Given the description of an element on the screen output the (x, y) to click on. 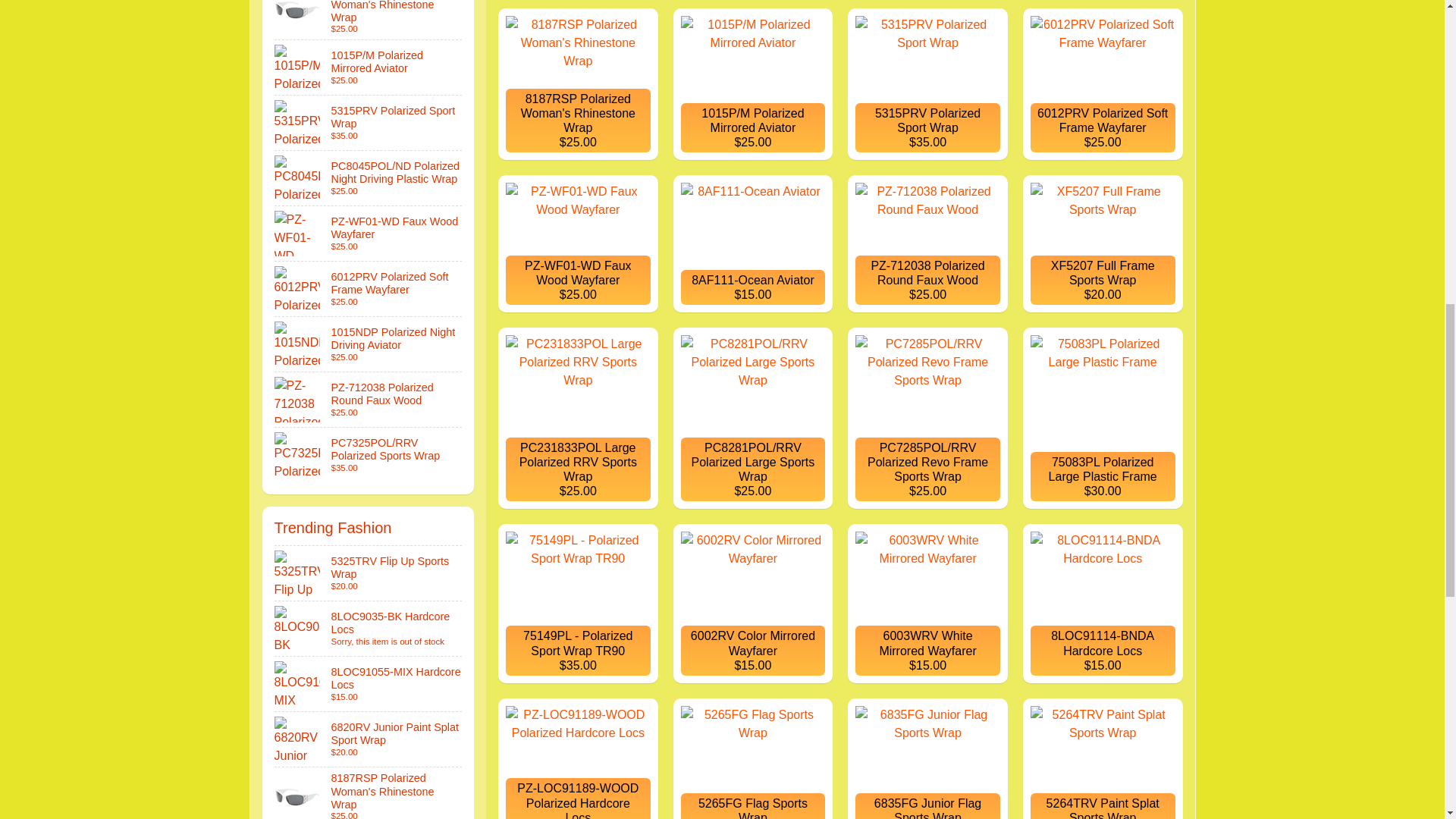
5325TRV Flip Up Sports Wrap (369, 573)
8LOC91055-MIX Hardcore Locs (369, 683)
8LOC9035-BK Hardcore Locs (369, 628)
1015NDP Polarized Night Driving Aviator (369, 343)
8187RSP Polarized Woman's Rhinestone Wrap (369, 20)
8187RSP Polarized Woman's Rhinestone Wrap (369, 793)
PZ-712038 Polarized Round Faux Wood (369, 399)
6012PRV Polarized Soft Frame Wayfarer (369, 288)
PZ-WF01-WD Faux Wood Wayfarer (369, 233)
5315PRV Polarized Sport Wrap (369, 122)
6820RV Junior Paint Splat Sport Wrap (369, 738)
